Given the description of an element on the screen output the (x, y) to click on. 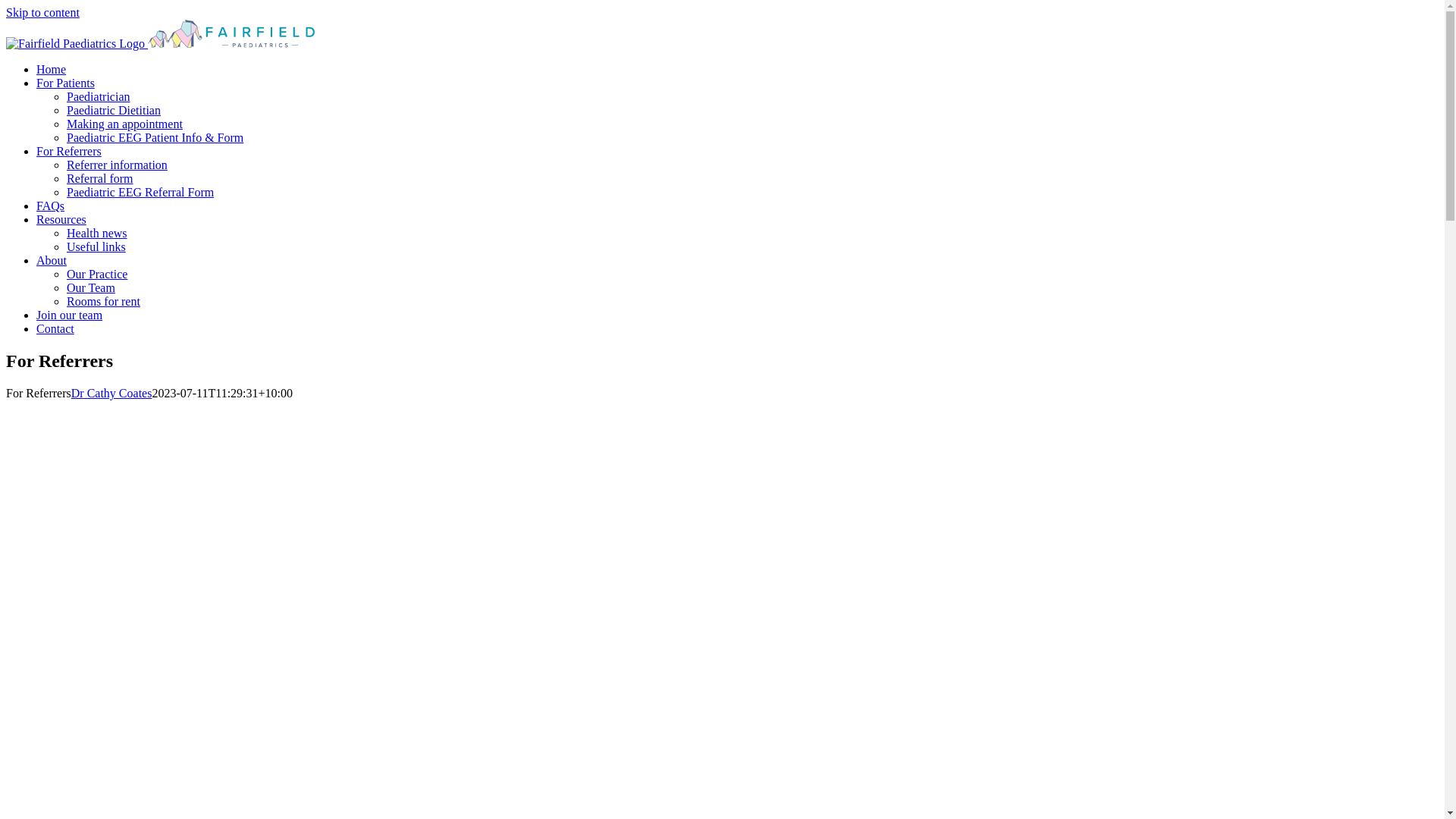
Paediatric EEG Patient Info & Form Element type: text (154, 137)
Home Element type: text (50, 68)
Paediatric Dietitian Element type: text (113, 109)
FAQs Element type: text (50, 205)
Paediatrician Element type: text (98, 96)
Dr Cathy Coates Element type: text (111, 392)
Making an appointment Element type: text (124, 123)
Health news Element type: text (96, 232)
Resources Element type: text (61, 219)
Referral form Element type: text (99, 178)
For Patients Element type: text (65, 82)
Referrer information Element type: text (116, 164)
Skip to content Element type: text (42, 12)
Contact Element type: text (55, 328)
Paediatric EEG Referral Form Element type: text (139, 191)
For Referrers Element type: text (68, 150)
About Element type: text (51, 260)
Rooms for rent Element type: text (103, 300)
Our Practice Element type: text (96, 273)
Useful links Element type: text (95, 246)
Our Team Element type: text (90, 287)
Join our team Element type: text (69, 314)
